Given the description of an element on the screen output the (x, y) to click on. 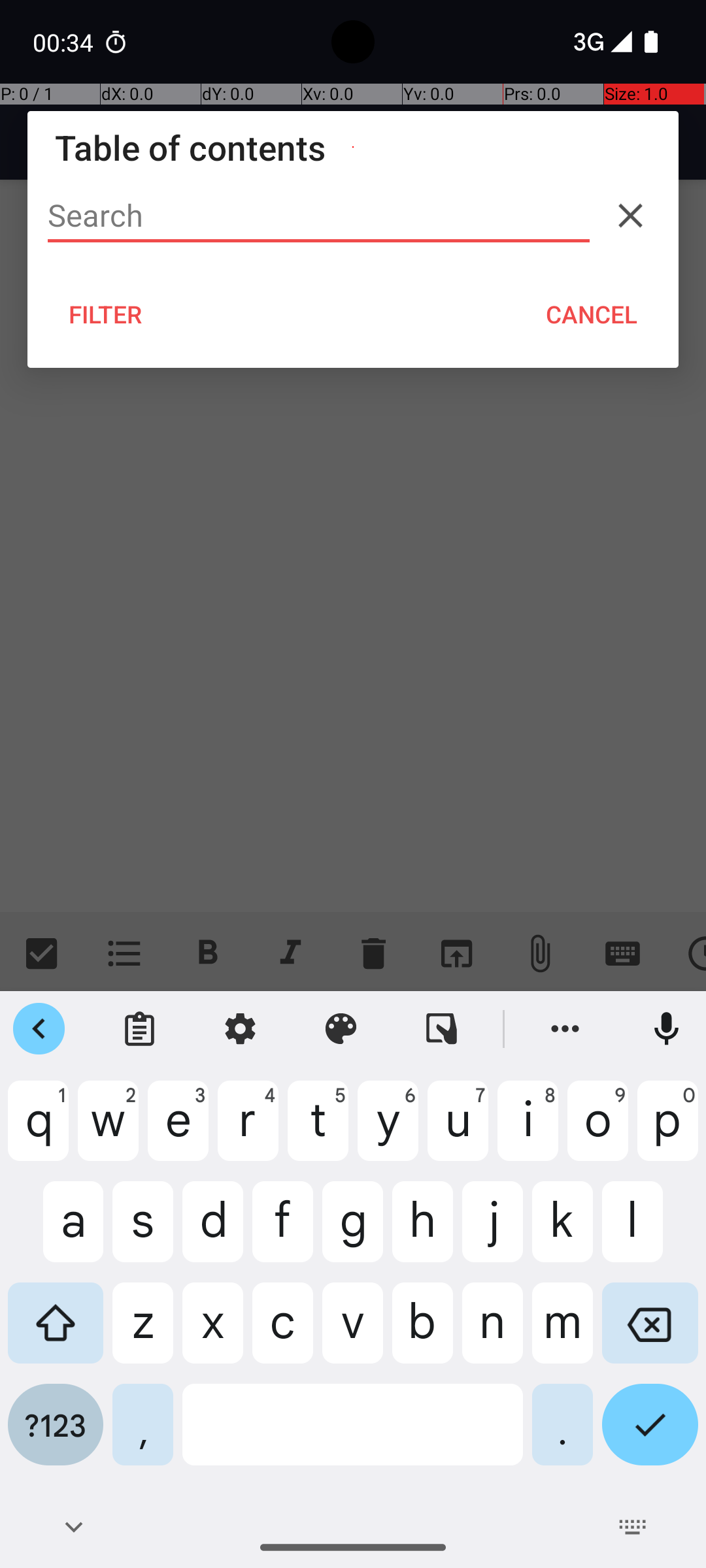
00:34 Element type: android.widget.TextView (64, 41)
